Given the description of an element on the screen output the (x, y) to click on. 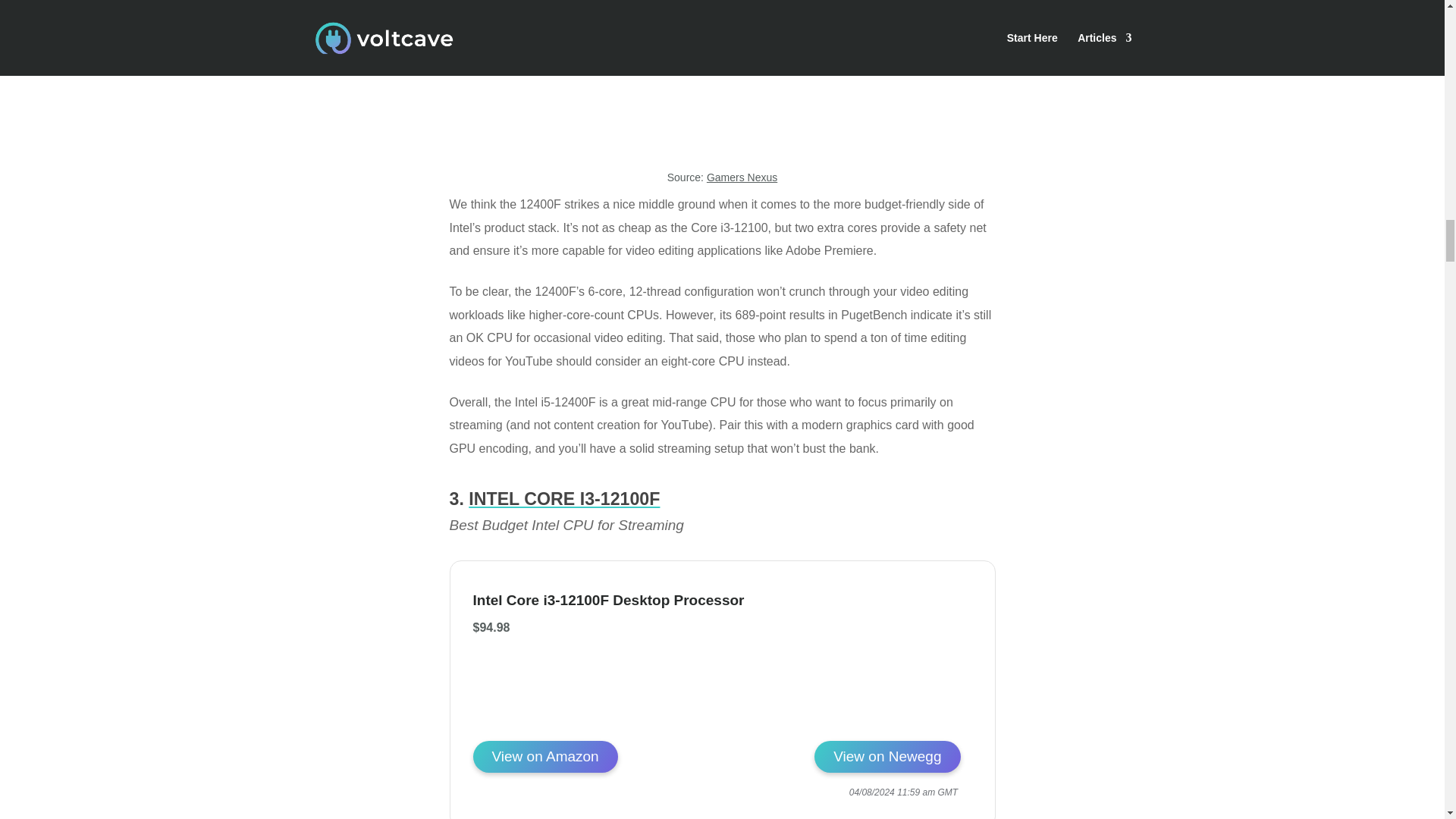
Intel Core i3-12100F Desktop Processor (641, 600)
INTEL CORE I3-12100F (563, 498)
Intel Core i3-12100F Desktop Processor (545, 757)
Intel Core i3-12100F Desktop Processor (886, 757)
View on Amazon (545, 757)
Gamers Nexus (741, 177)
View on Newegg (886, 757)
Intel Core i3-12100F Desktop Processor (641, 600)
Intel Core i3-12100F Desktop Processor (901, 721)
